Given the description of an element on the screen output the (x, y) to click on. 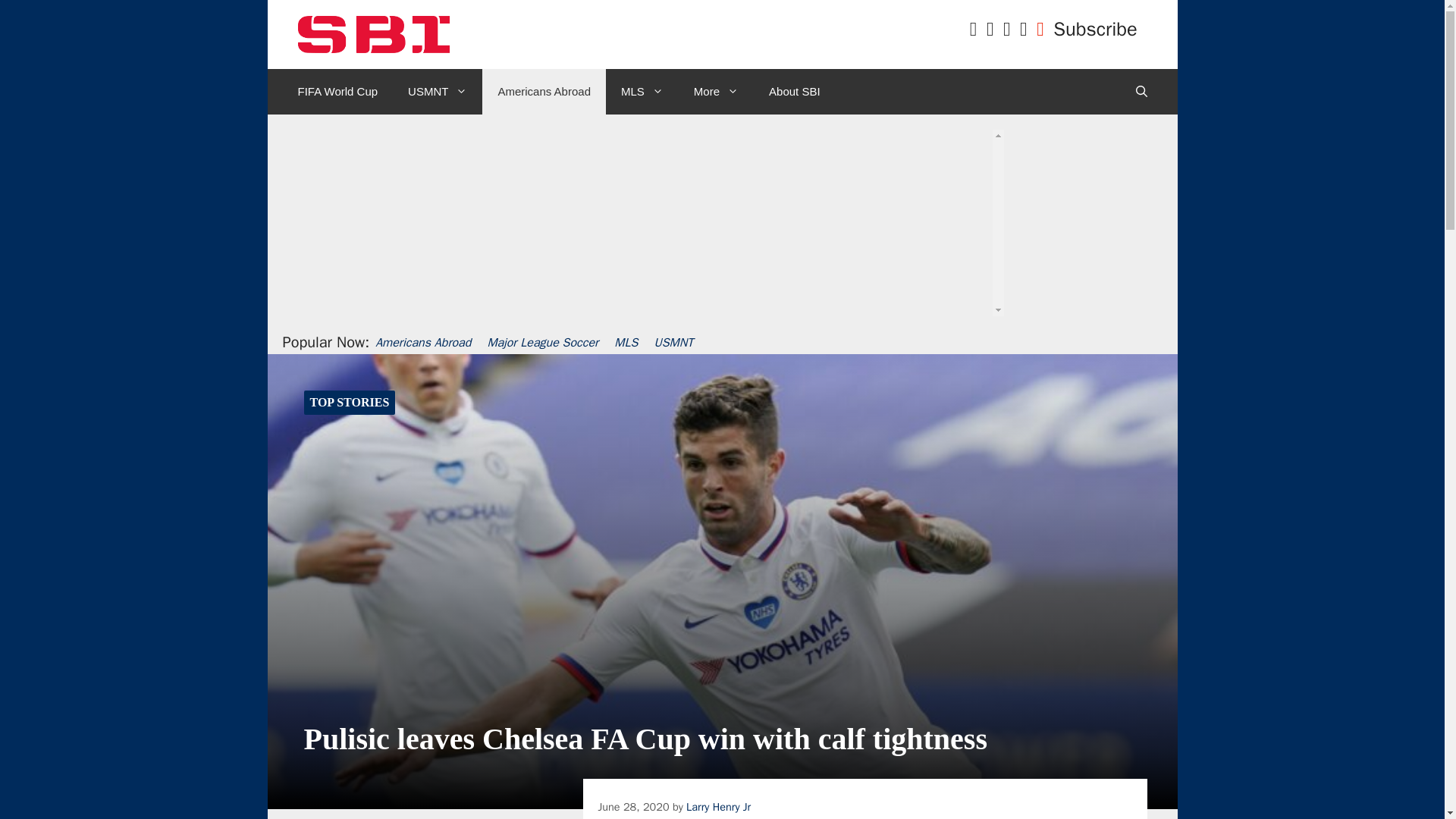
MLS (641, 91)
USMNT (437, 91)
View all posts by Larry Henry Jr (718, 807)
Americans Abroad (543, 91)
FIFA World Cup (337, 91)
Subscribe (1094, 28)
